Given the description of an element on the screen output the (x, y) to click on. 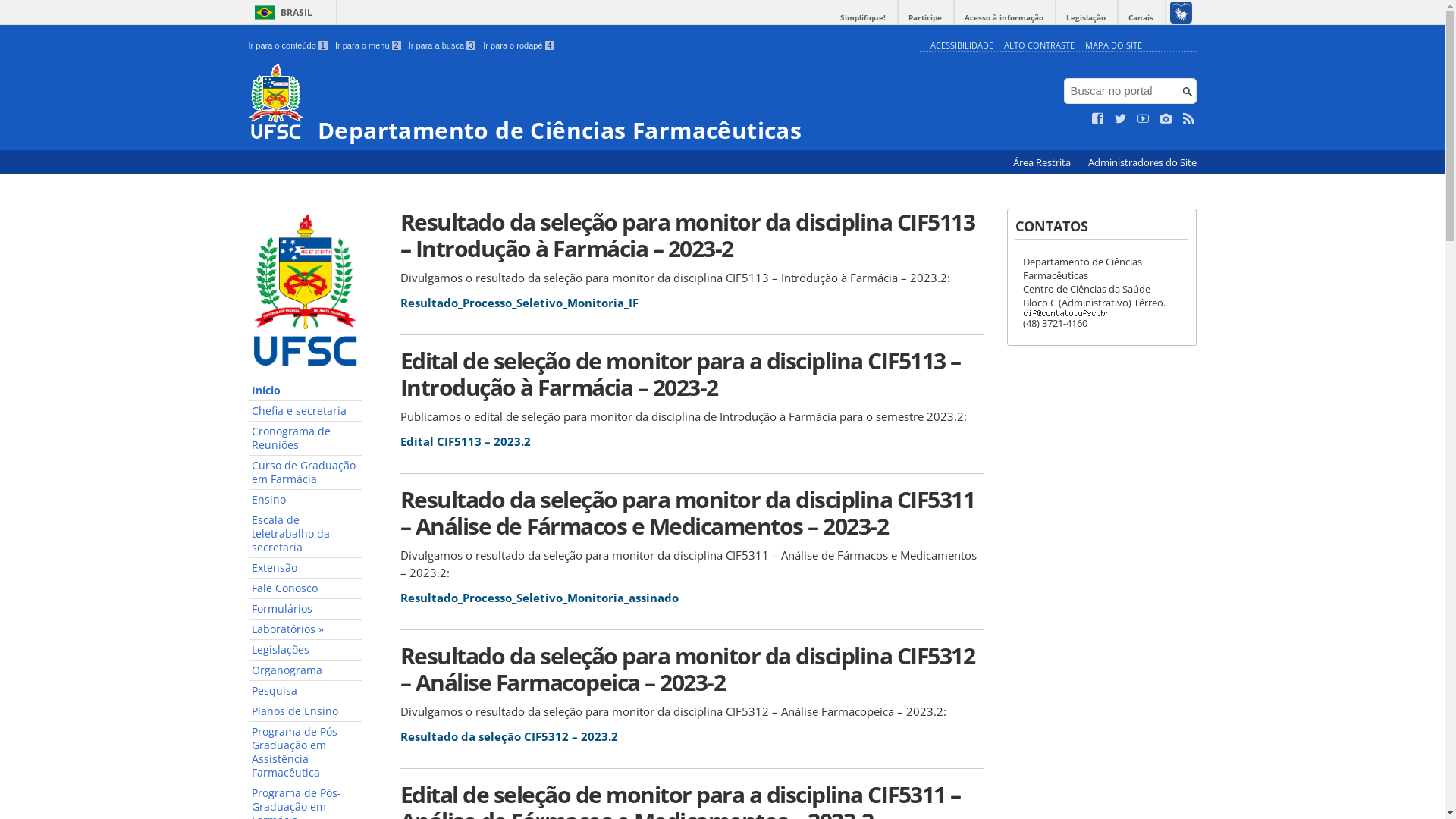
Administradores do Site Element type: text (1141, 162)
Resultado_Processo_Seletivo_Monitoria_IF Element type: text (519, 302)
Simplifique! Element type: text (862, 18)
Pesquisa Element type: text (305, 690)
Ir para a busca 3 Element type: text (442, 45)
Chefia e secretaria Element type: text (305, 411)
Planos de Ensino Element type: text (305, 711)
Canais Element type: text (1140, 18)
Escala de teletrabalho da secretaria Element type: text (305, 534)
Veja no Instagram Element type: hover (1166, 118)
Siga no Twitter Element type: hover (1120, 118)
Organograma Element type: text (305, 670)
Ir para o menu 2 Element type: text (368, 45)
Participe Element type: text (924, 18)
Resultado_Processo_Seletivo_Monitoria_assinado Element type: text (539, 597)
Curta no Facebook Element type: hover (1098, 118)
Ensino Element type: text (305, 499)
MAPA DO SITE Element type: text (1112, 44)
BRASIL Element type: text (280, 12)
ALTO CONTRASTE Element type: text (1039, 44)
ACESSIBILIDADE Element type: text (960, 44)
Fale Conosco Element type: text (305, 588)
